Given the description of an element on the screen output the (x, y) to click on. 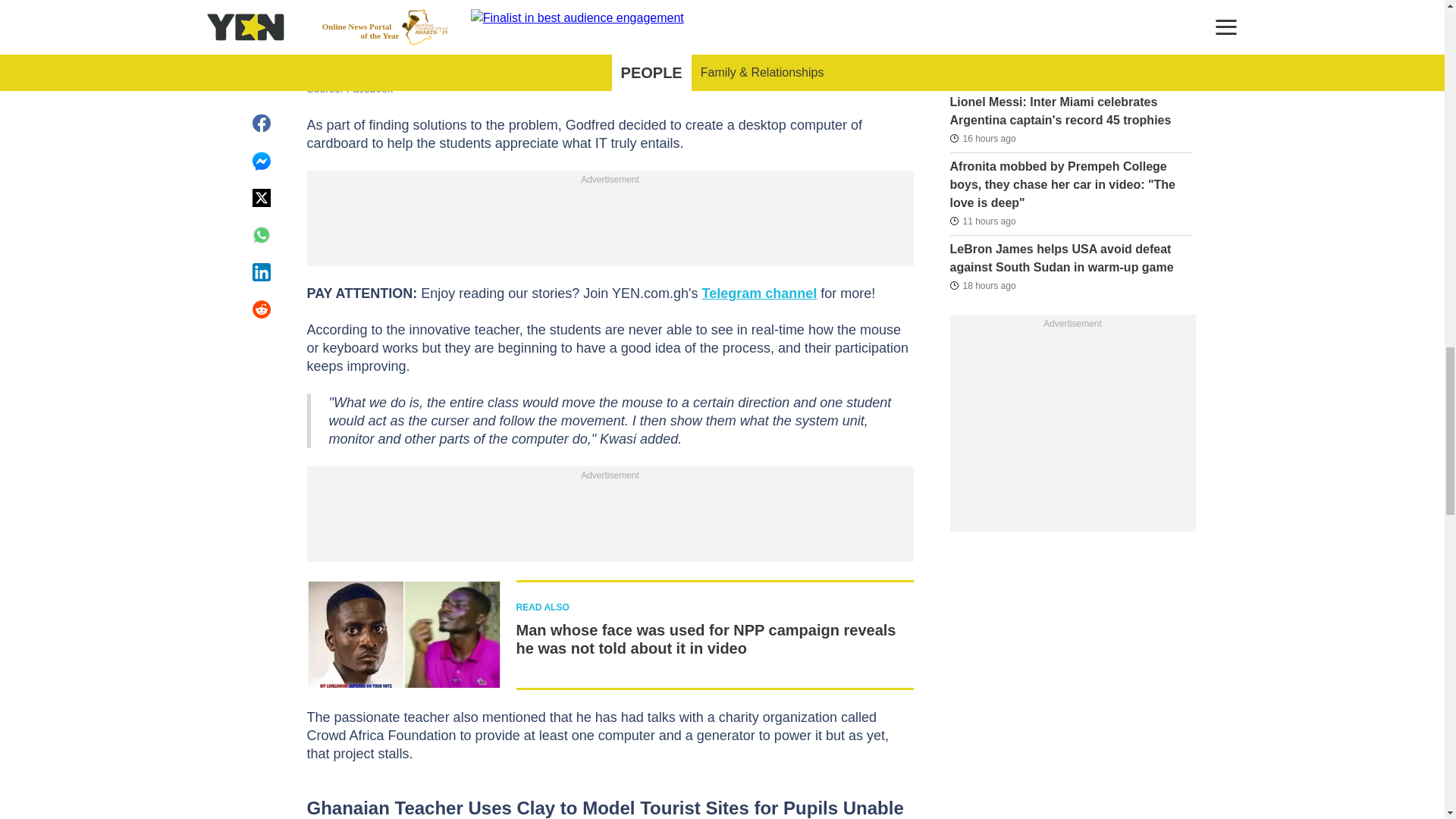
2024-07-21T16:09:58Z (981, 221)
2024-07-21T08:30:02Z (981, 285)
2024-07-21T11:14:34Z (981, 137)
2024-07-21T14:13:03Z (981, 74)
Ghanaian Teacher Kwasi Nyarko With His Students (609, 17)
